Given the description of an element on the screen output the (x, y) to click on. 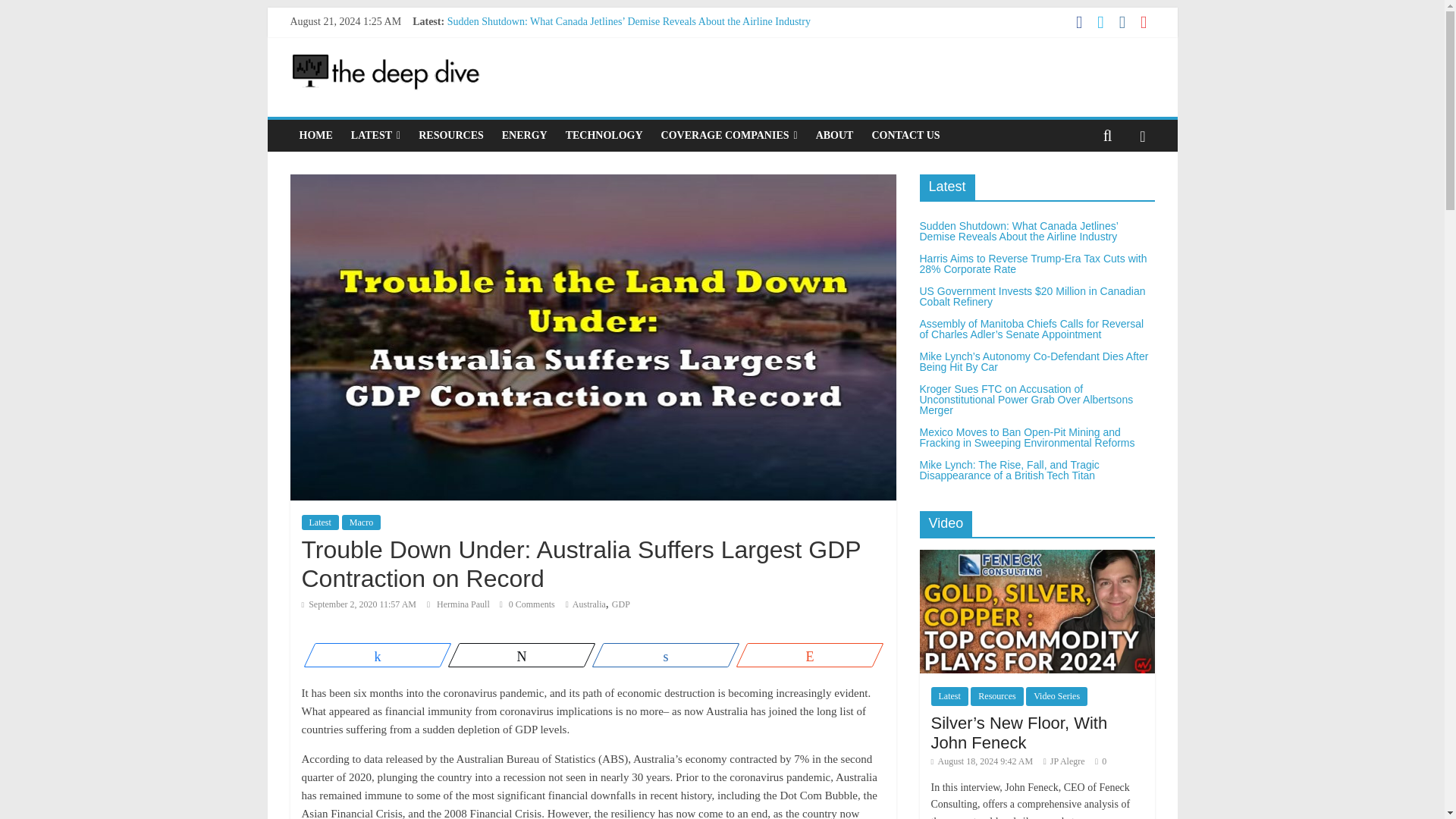
LATEST (375, 135)
ENERGY (524, 135)
COVERAGE COMPANIES (729, 135)
RESOURCES (451, 135)
11:57 am (358, 603)
Hermina Paull (464, 603)
HOME (314, 135)
TECHNOLOGY (604, 135)
